Given the description of an element on the screen output the (x, y) to click on. 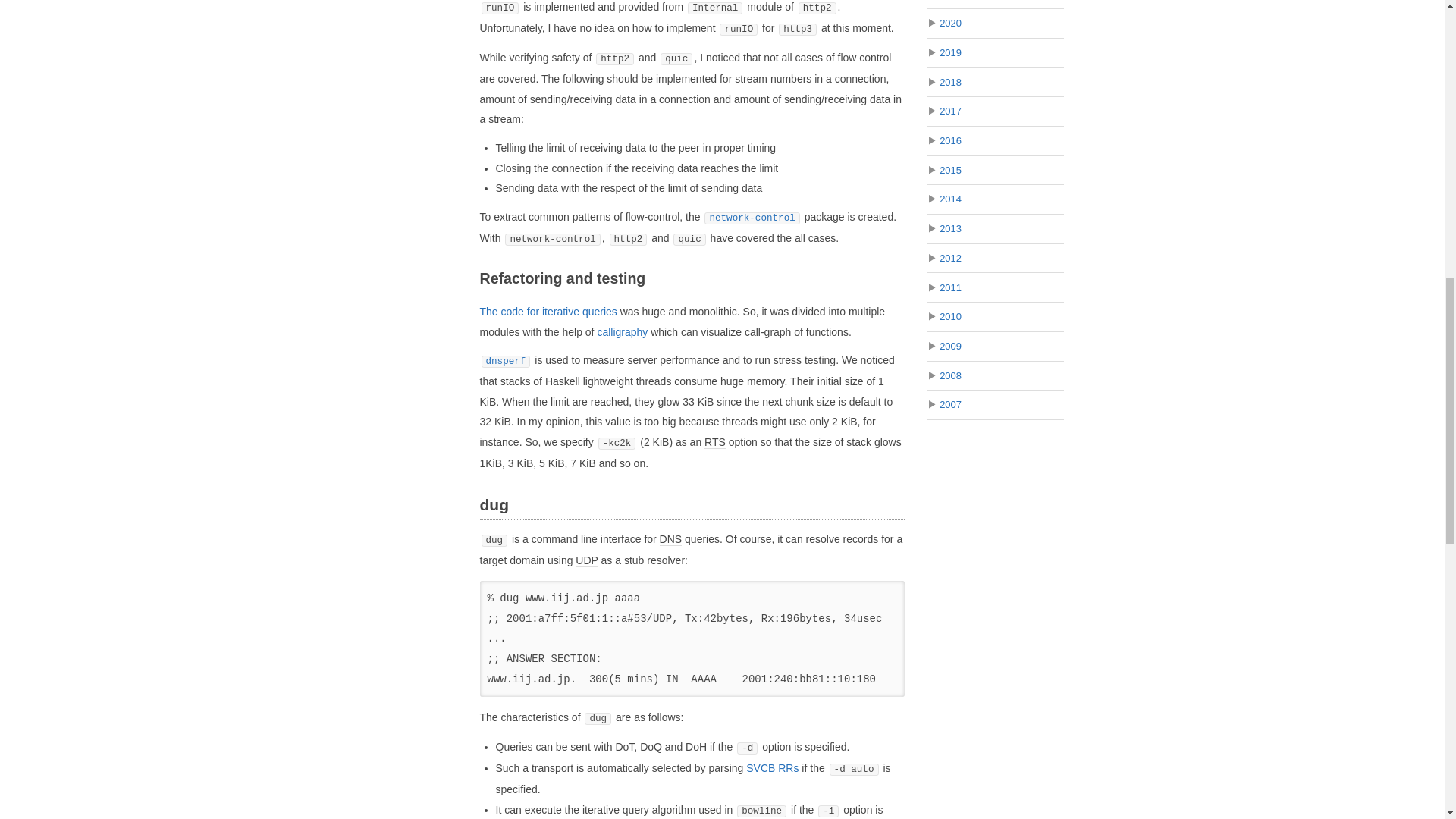
The code for iterative queries (547, 311)
RTS (714, 441)
network-control (751, 216)
Haskell (561, 381)
dnsperf (505, 359)
value (617, 421)
calligraphy (621, 331)
